Given the description of an element on the screen output the (x, y) to click on. 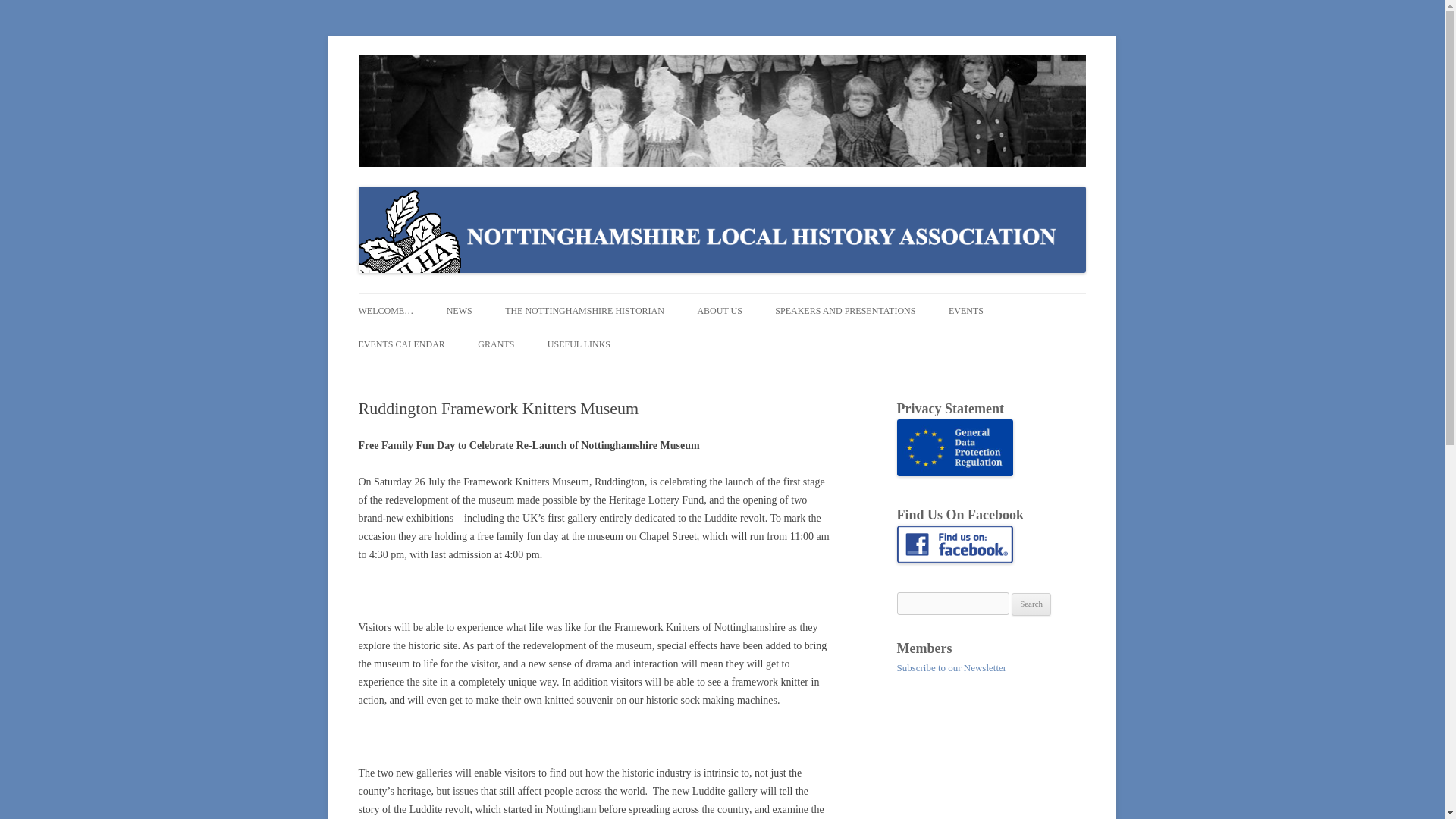
NOTTINGHAMSHIRE LOCAL HISTORY ASSOCIATION (613, 72)
NEWSLETTER (522, 342)
USEFUL LINKS (578, 344)
EVENTS CALENDAR (401, 344)
Subscribe to our Newsletter (951, 667)
SPEAKERS AND PRESENTATIONS (844, 310)
ABOUT US (719, 310)
NOTTINGHAMSHIRE LOCAL HISTORY ASSOCIATION (613, 72)
Search (1031, 603)
